Given the description of an element on the screen output the (x, y) to click on. 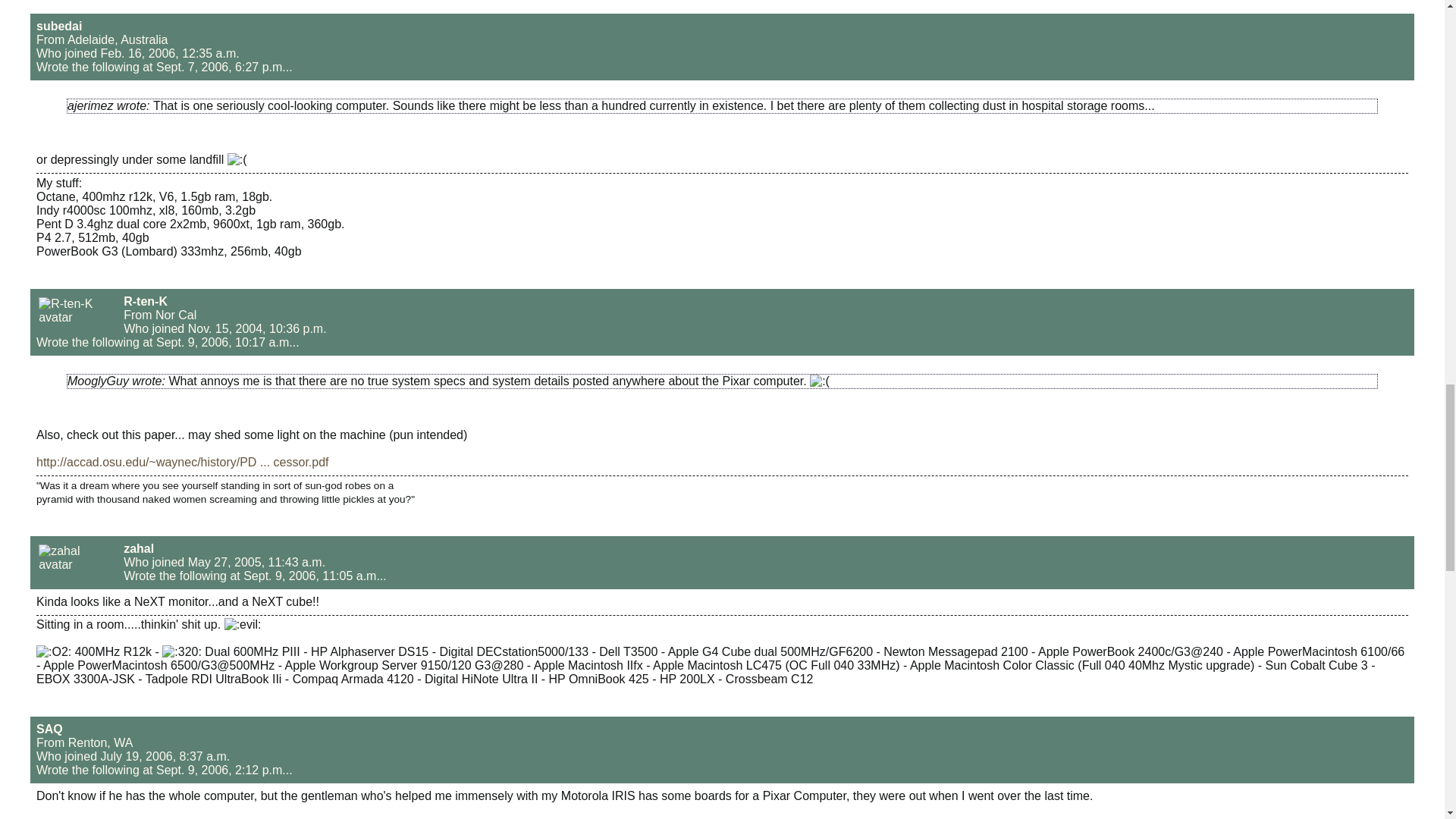
320 (181, 652)
subedai (58, 25)
SAQ (49, 728)
Evil or Very Mad (243, 624)
O2 (53, 652)
Sad (237, 160)
Sad (819, 381)
R-ten-K (145, 300)
zahal (138, 548)
